Given the description of an element on the screen output the (x, y) to click on. 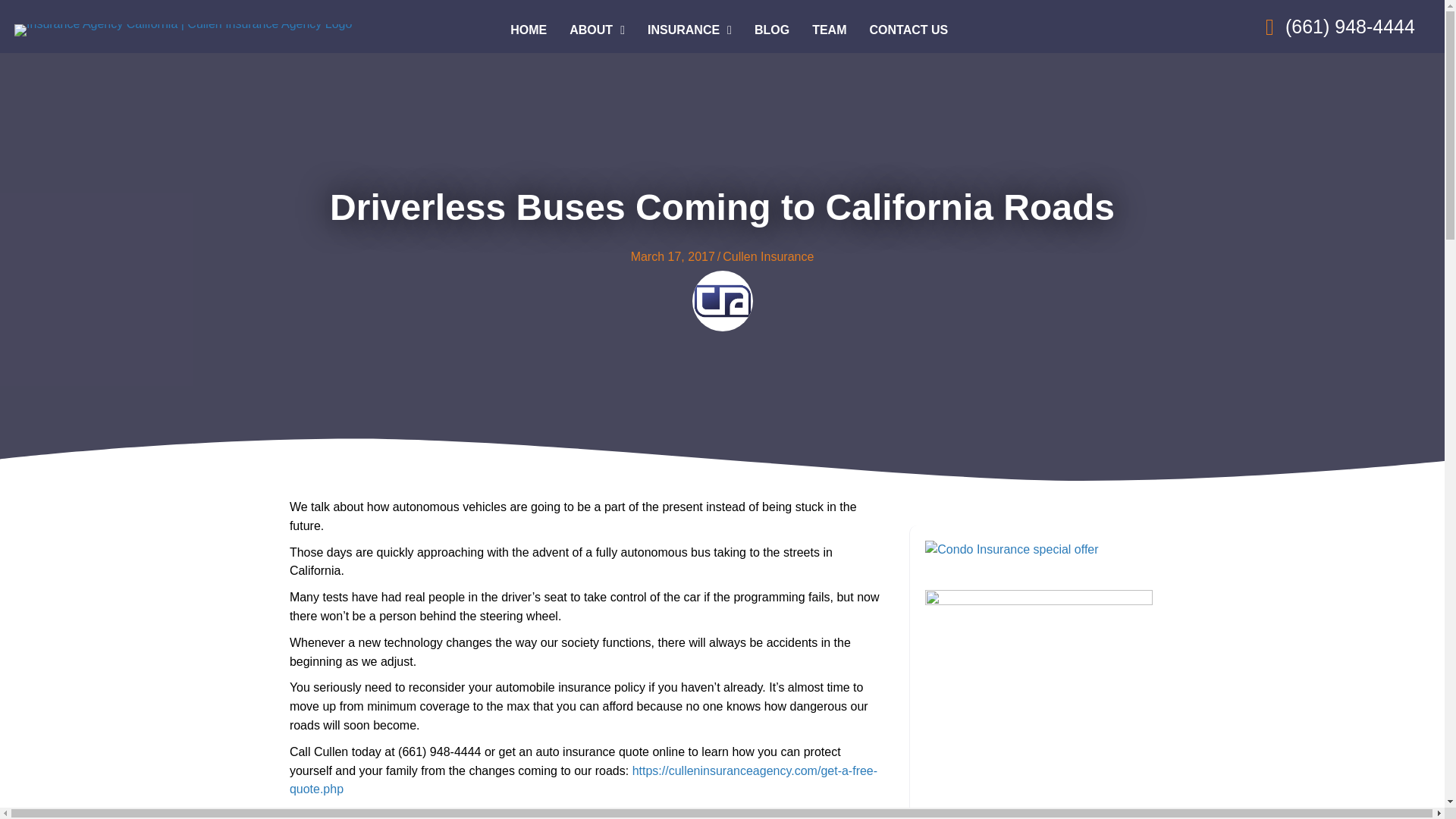
ABOUT (596, 30)
HOME (528, 30)
BLOG (771, 30)
TEAM (829, 30)
Cullen Insurance Logo (183, 30)
INSURANCE (689, 30)
CONTACT US (908, 30)
site-icon-filled (721, 301)
